Given the description of an element on the screen output the (x, y) to click on. 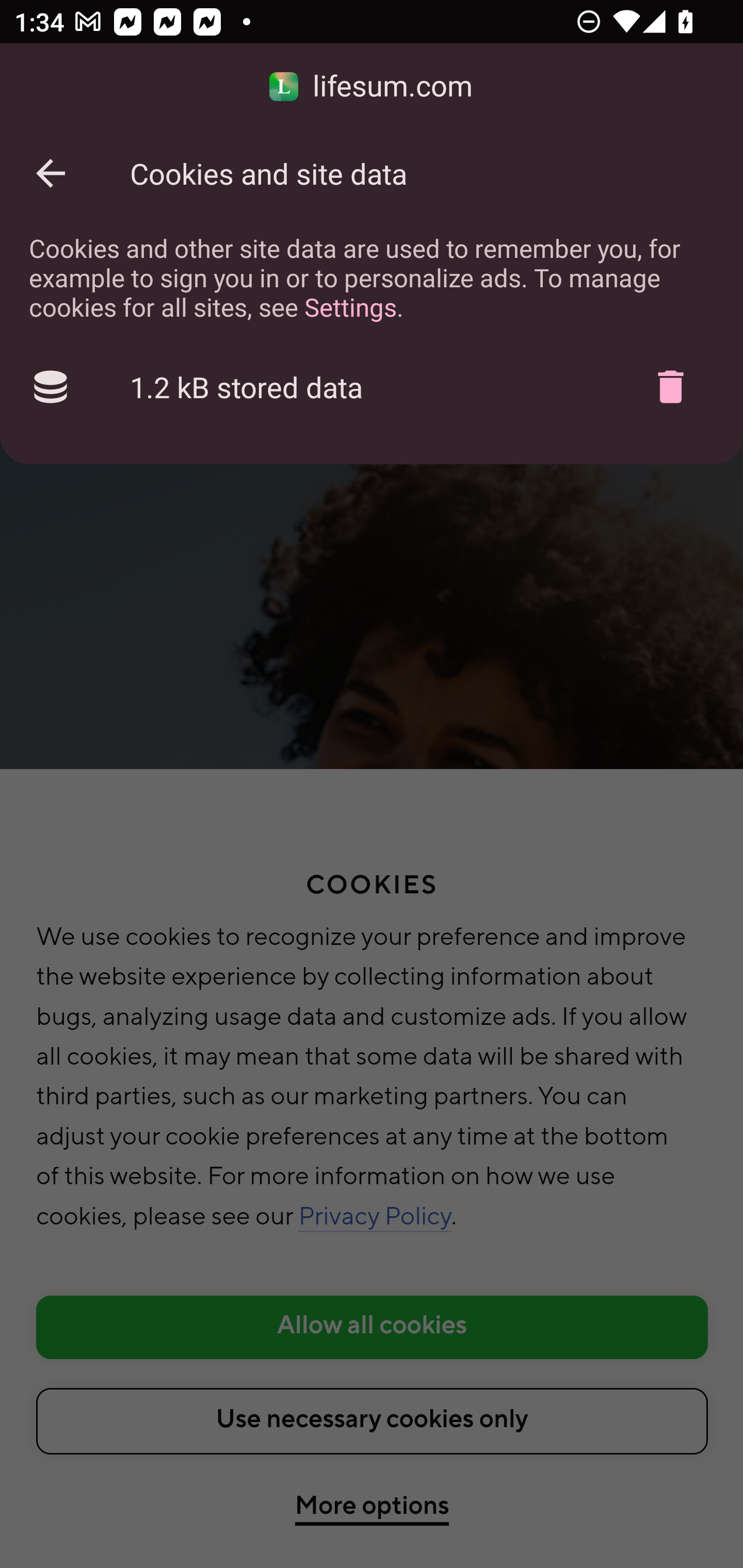
lifesum.com (371, 86)
Back (50, 173)
1.2 kB stored data Delete cookies? (371, 386)
